Given the description of an element on the screen output the (x, y) to click on. 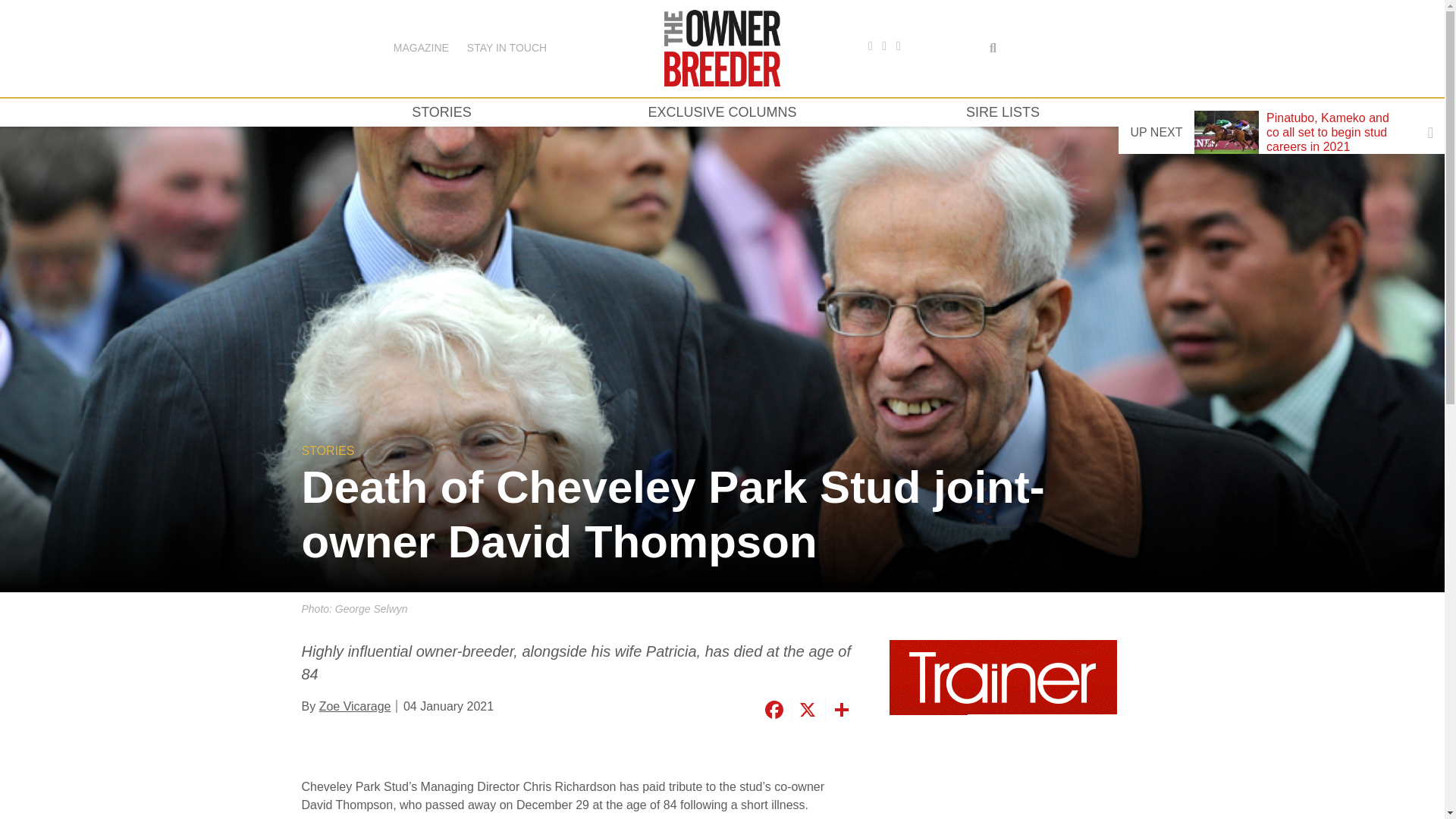
Share (840, 710)
SIRE LISTS (1002, 111)
Zoe Vicarage (354, 706)
Facebook (772, 710)
X (805, 710)
STAY IN TOUCH (507, 48)
EXCLUSIVE COLUMNS (721, 111)
STORIES (441, 111)
MAGAZINE (420, 47)
